Given the description of an element on the screen output the (x, y) to click on. 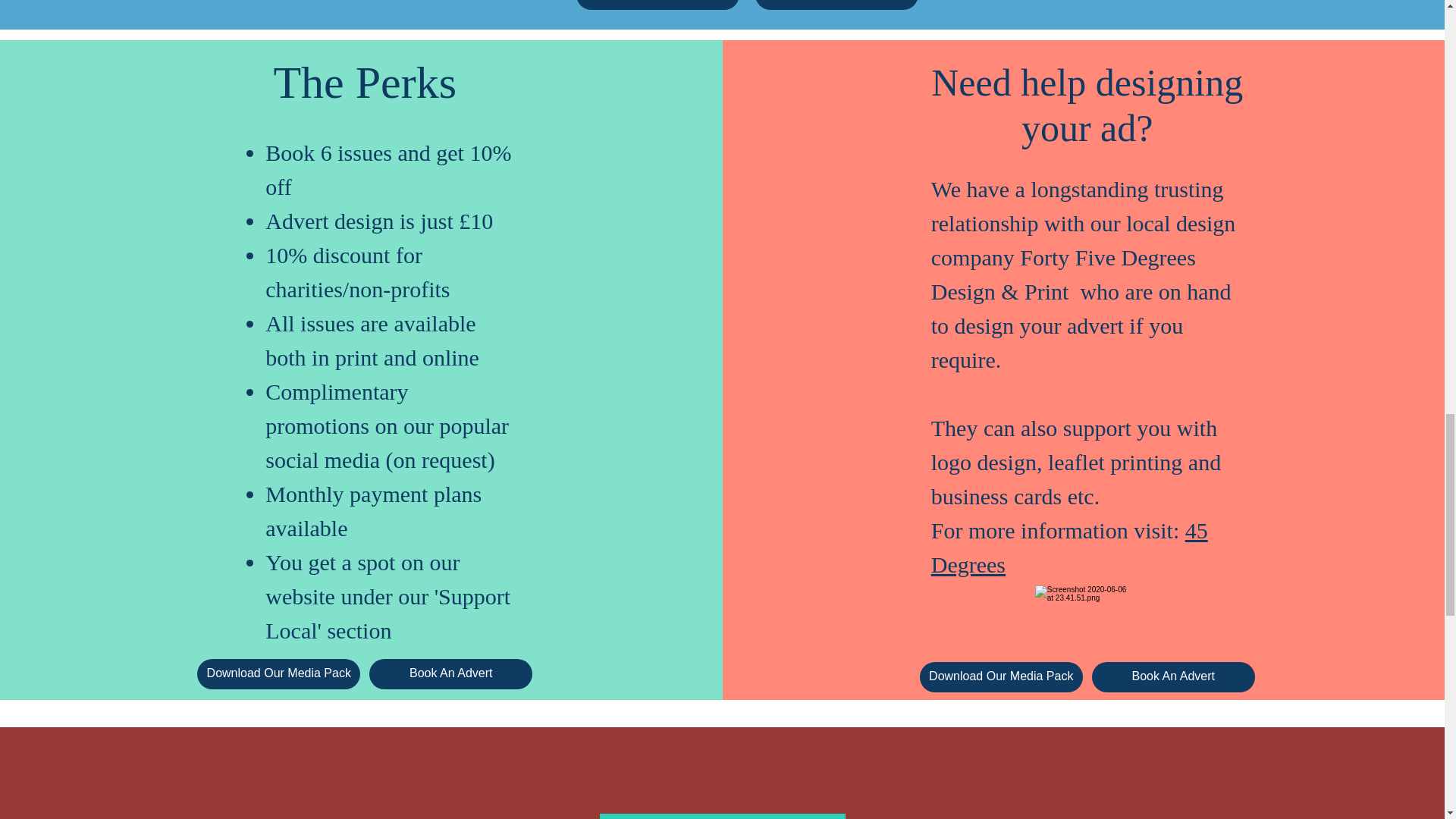
Book An Advert (836, 4)
Book An Advert (1173, 676)
Book An Advert (450, 674)
Download Our Media Pack (1001, 676)
45 Degrees (1069, 547)
Download Our Media Pack (277, 674)
Download Our Media Pack (657, 4)
